Given the description of an element on the screen output the (x, y) to click on. 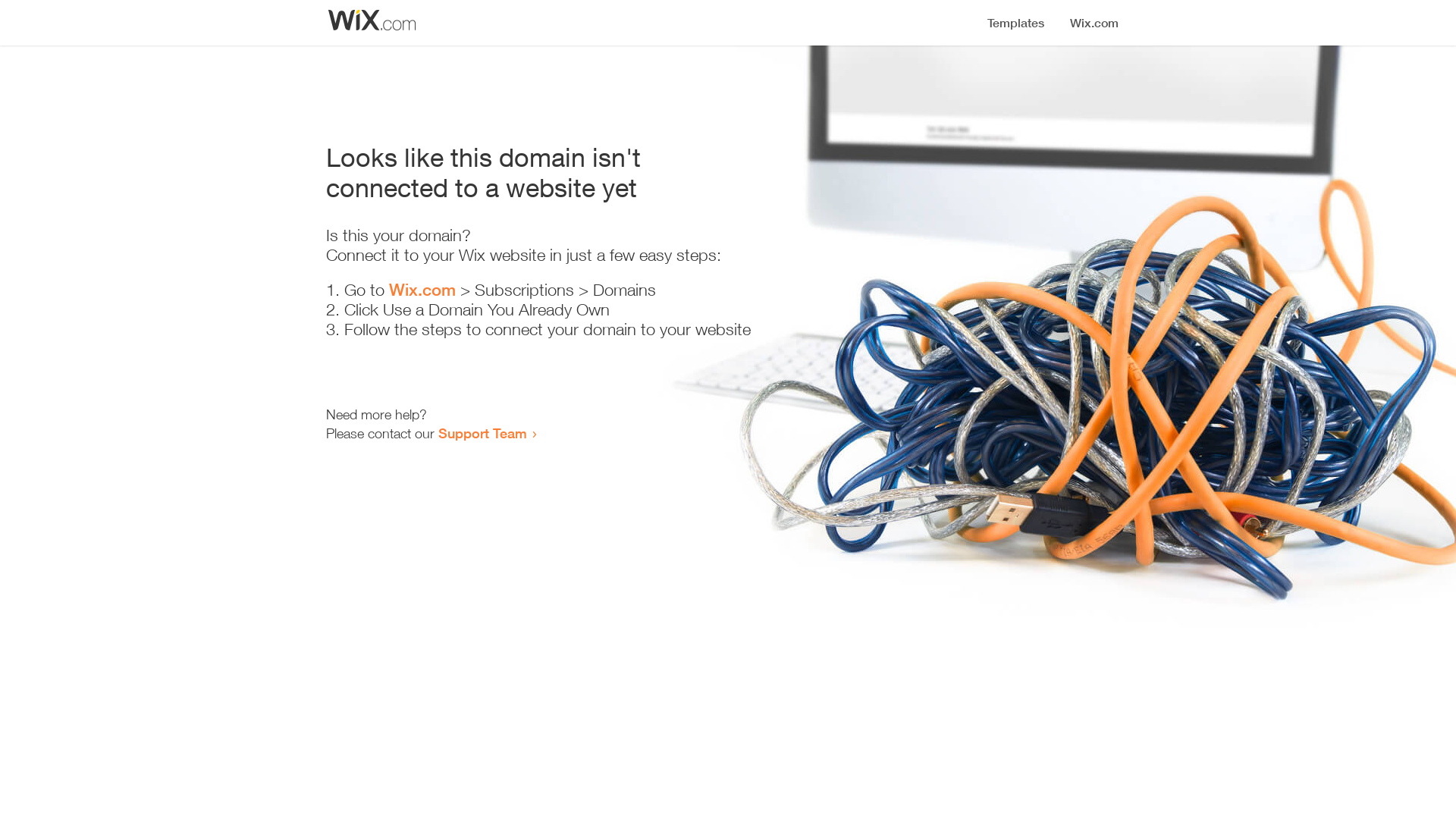
Support Team Element type: text (482, 432)
Wix.com Element type: text (422, 289)
